Given the description of an element on the screen output the (x, y) to click on. 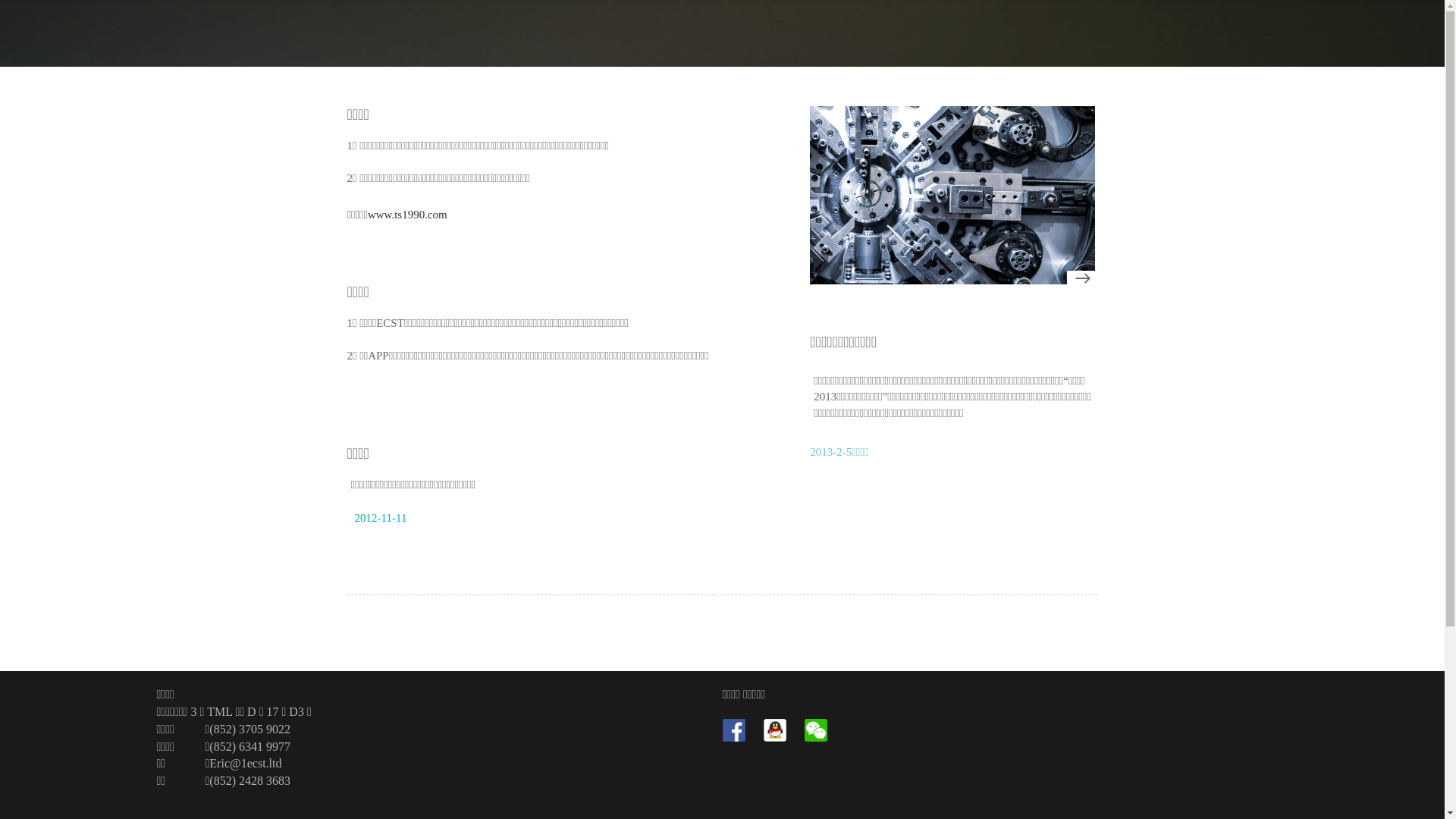
www.ts1990.com Element type: text (407, 214)
